Given the description of an element on the screen output the (x, y) to click on. 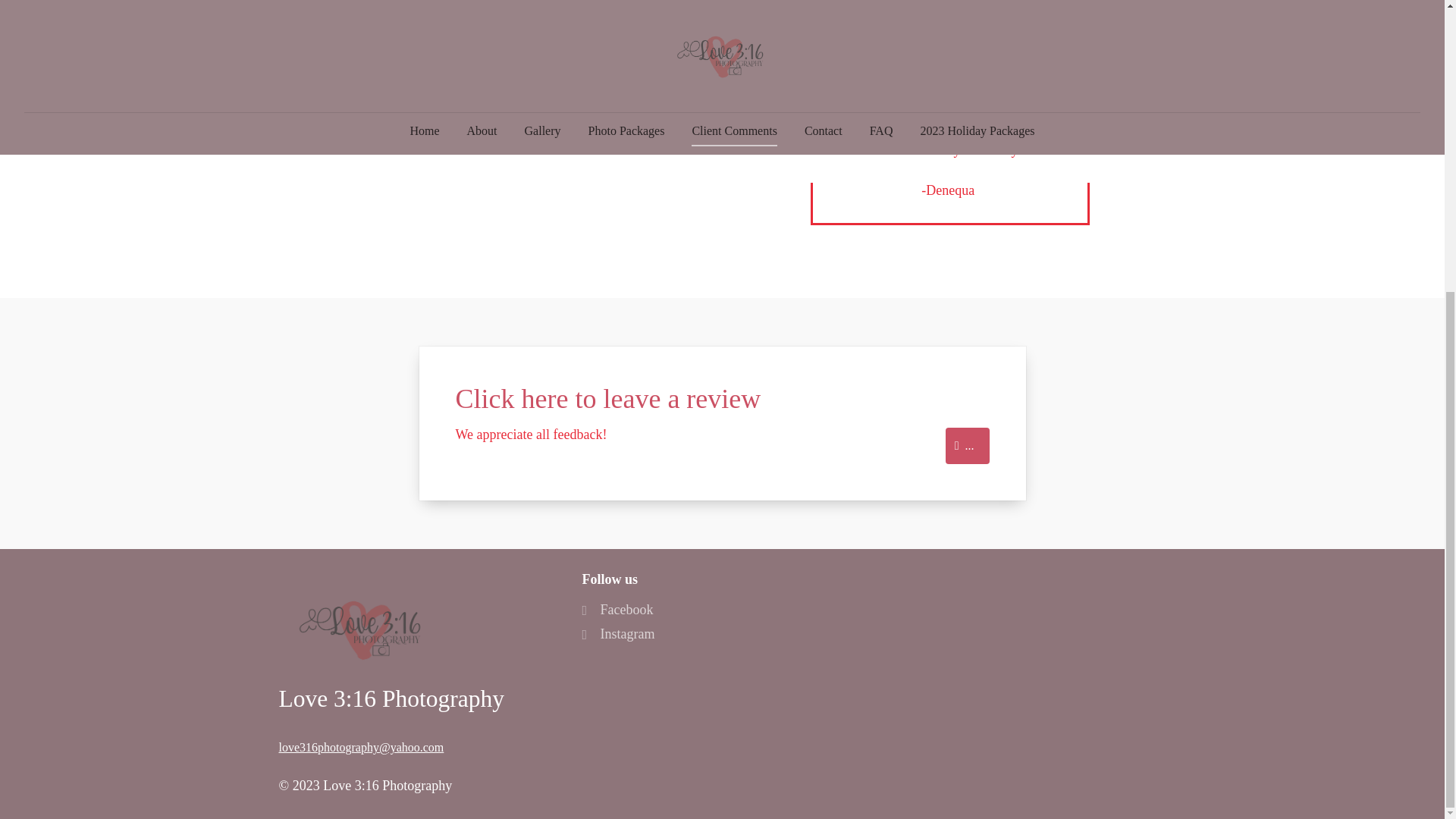
... (967, 445)
Instagram (616, 633)
Facebook (616, 609)
